Given the description of an element on the screen output the (x, y) to click on. 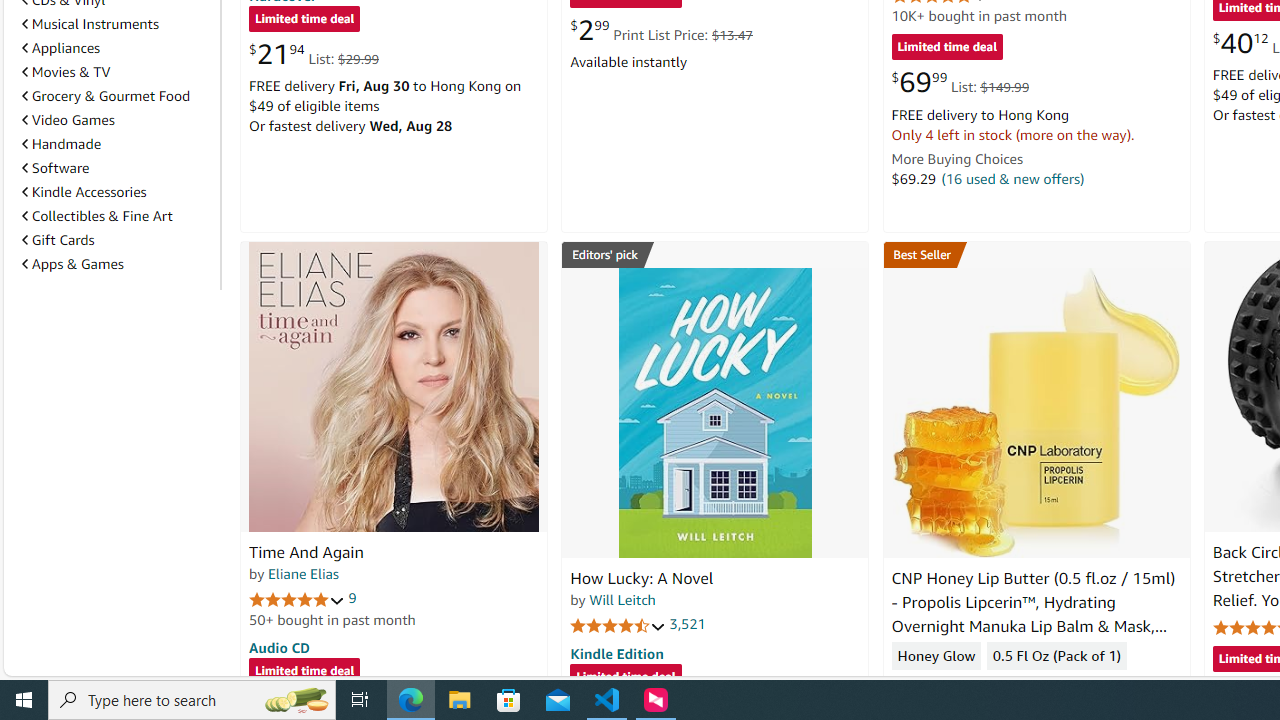
Video Games (68, 119)
$21.94 List: $29.99 (314, 54)
Movies & TV (117, 71)
Time And Again (306, 552)
Grocery & Gourmet Food (117, 95)
Software (55, 168)
Limited time deal (625, 678)
Handmade (117, 143)
Appliances (117, 48)
3,521 (687, 624)
How Lucky: A Novel (714, 412)
Handmade (61, 143)
Kindle Accessories (117, 192)
Apps & Games (117, 264)
